Given the description of an element on the screen output the (x, y) to click on. 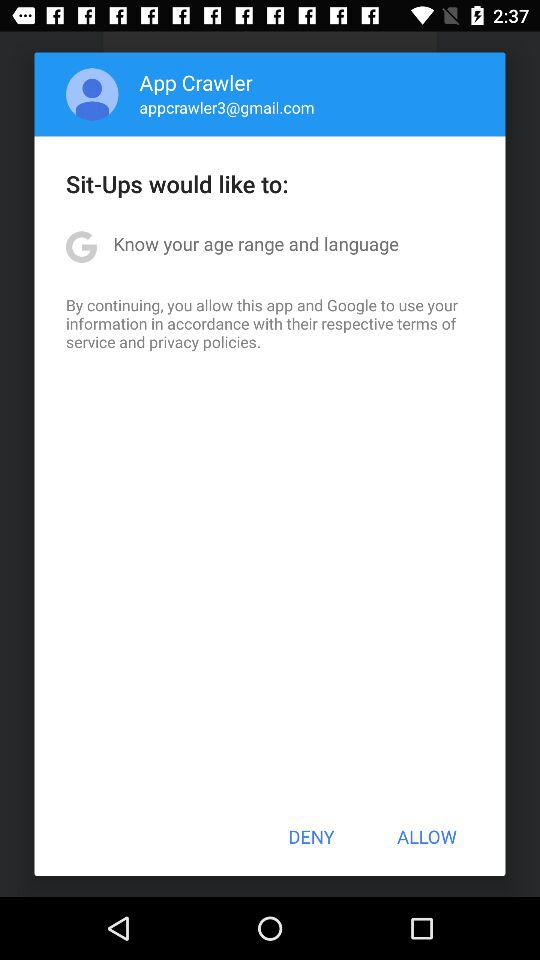
turn on app below the sit ups would item (255, 243)
